Given the description of an element on the screen output the (x, y) to click on. 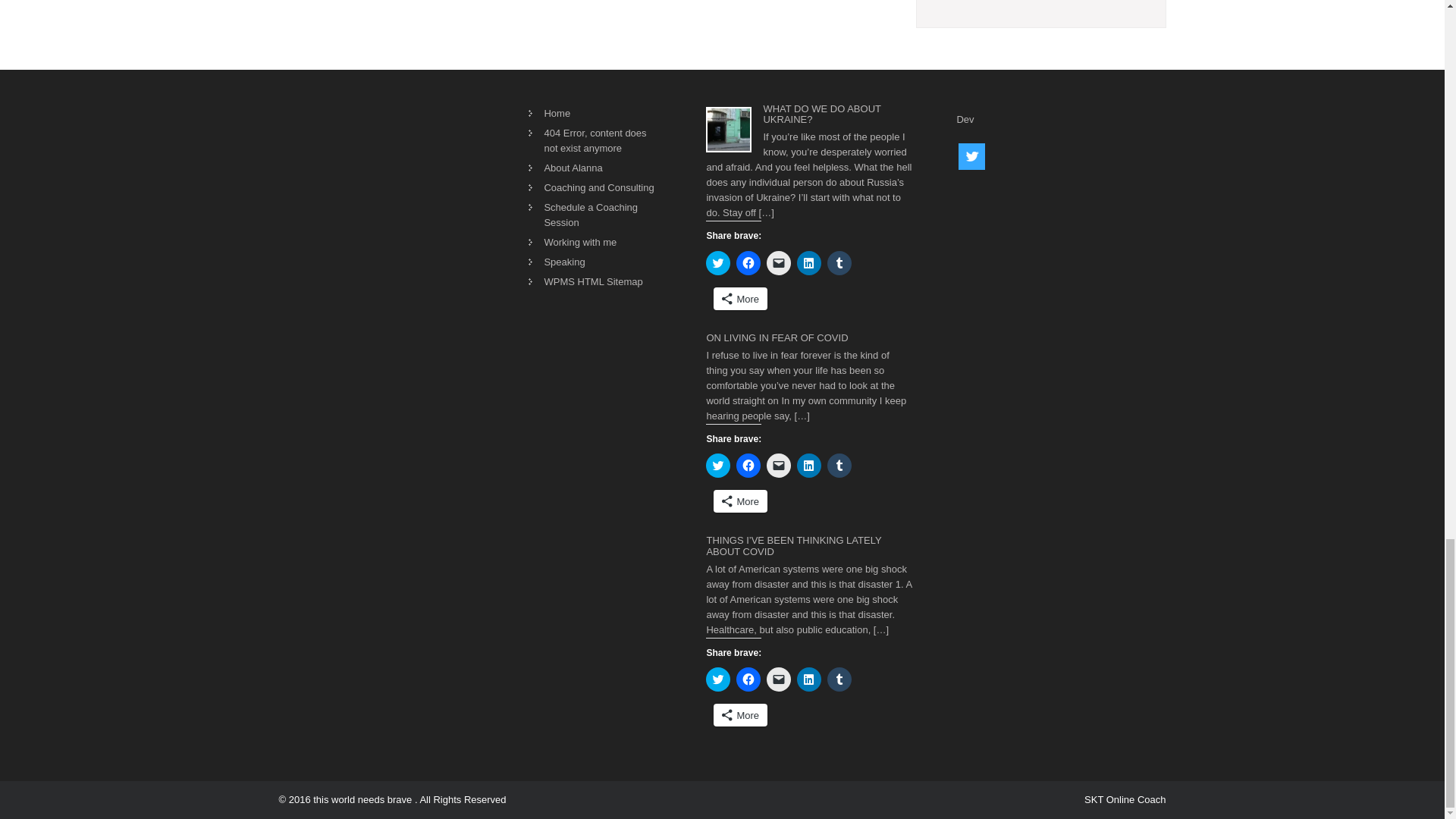
Click to share on Twitter (718, 262)
Click to share on Facebook (748, 262)
